Given the description of an element on the screen output the (x, y) to click on. 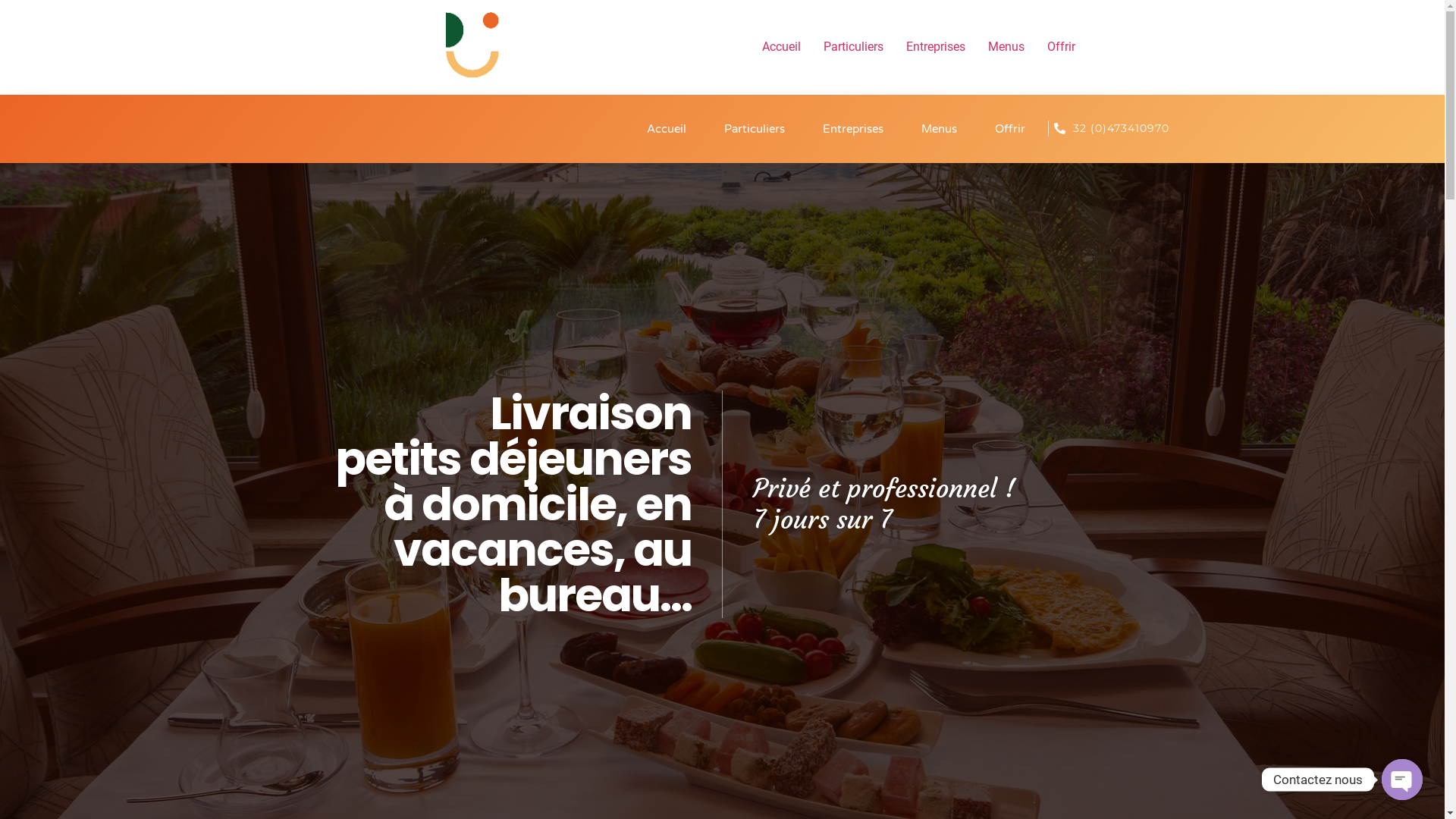
Entreprises Element type: text (852, 128)
Particuliers Element type: text (852, 46)
Menus Element type: text (939, 128)
Accueil Element type: text (666, 128)
Entreprises Element type: text (935, 46)
Offrir Element type: text (1009, 128)
Offrir Element type: text (1060, 46)
Particuliers Element type: text (754, 128)
Accueil Element type: text (781, 46)
Menus Element type: text (1005, 46)
